Given the description of an element on the screen output the (x, y) to click on. 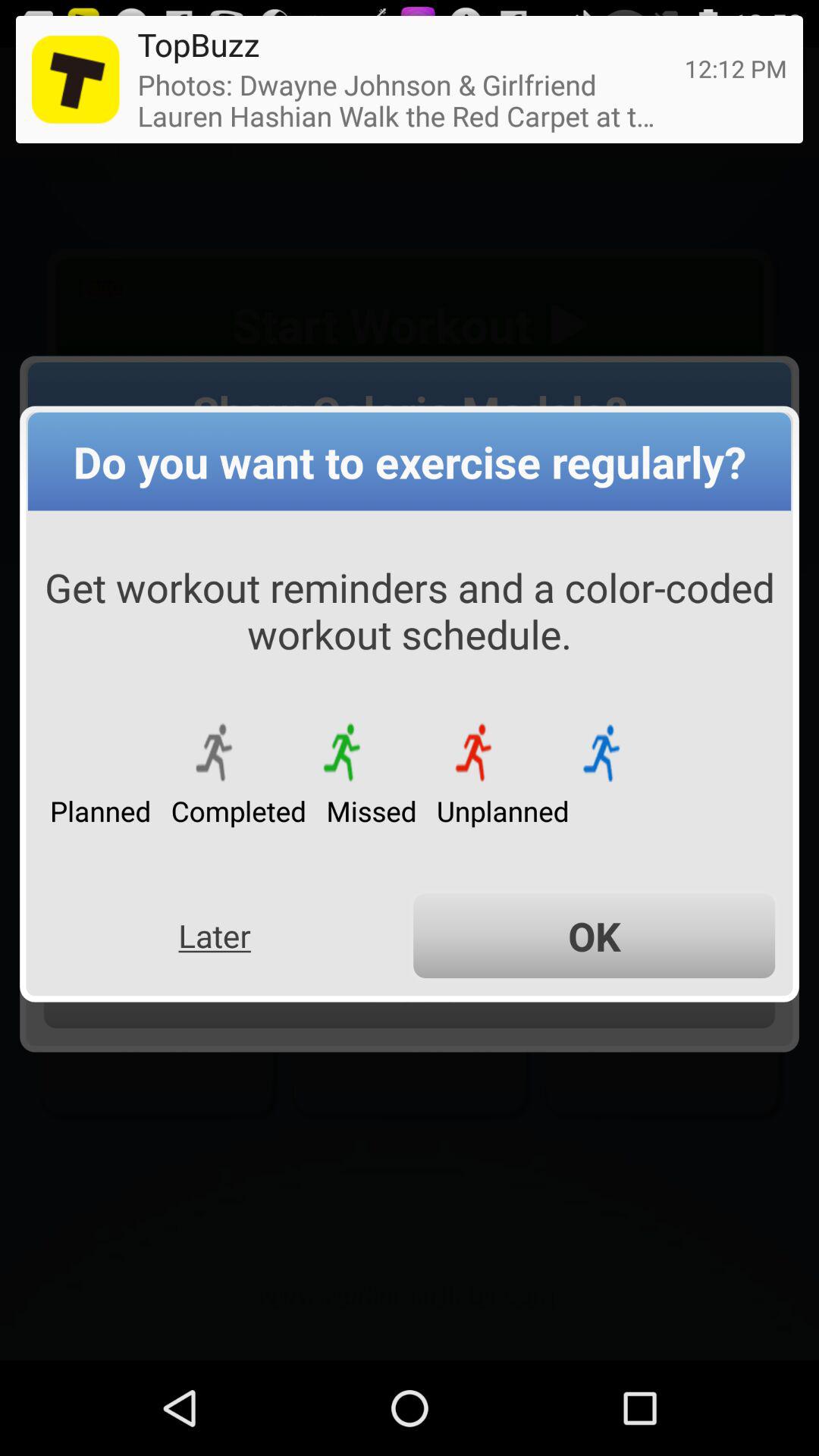
tap the button to the left of the ok item (214, 935)
